Given the description of an element on the screen output the (x, y) to click on. 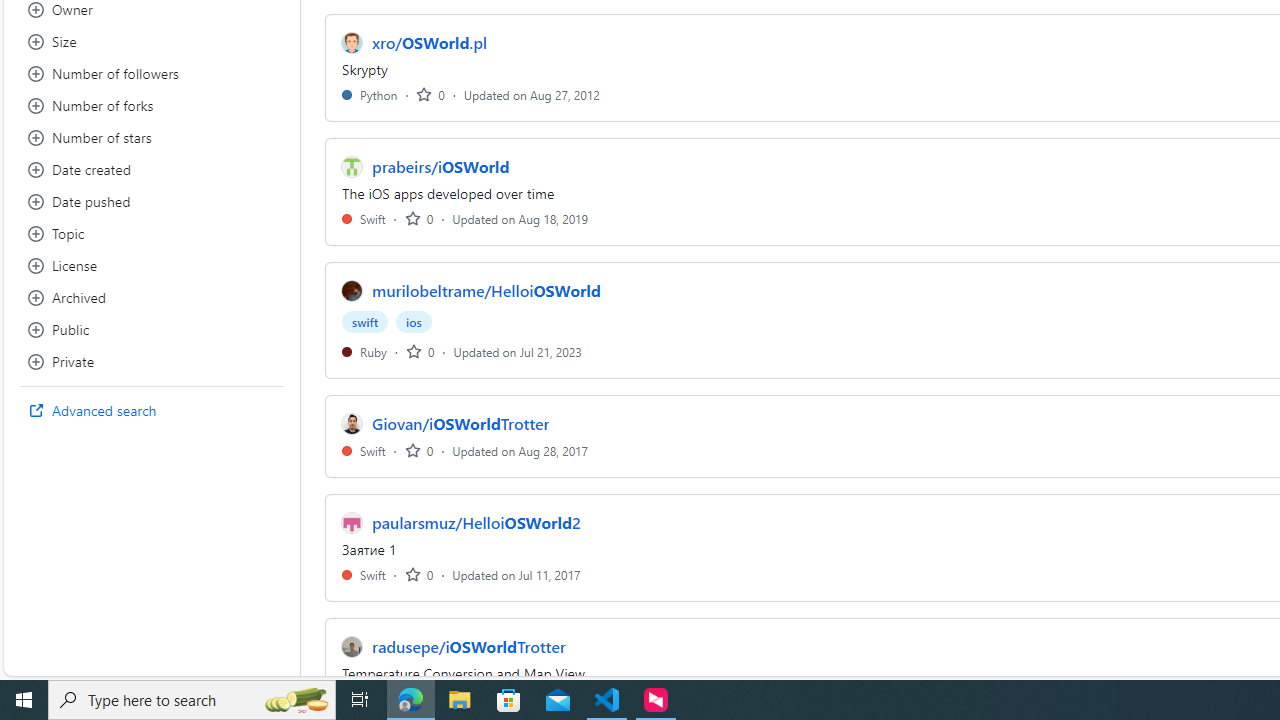
paularsmuz/HelloiOSWorld2 (476, 522)
xro/OSWorld.pl (429, 42)
Updated on Jul 21, 2023 (517, 351)
murilobeltrame/HelloiOSWorld (486, 291)
Updated on Aug 18, 2019 (519, 218)
